Given the description of an element on the screen output the (x, y) to click on. 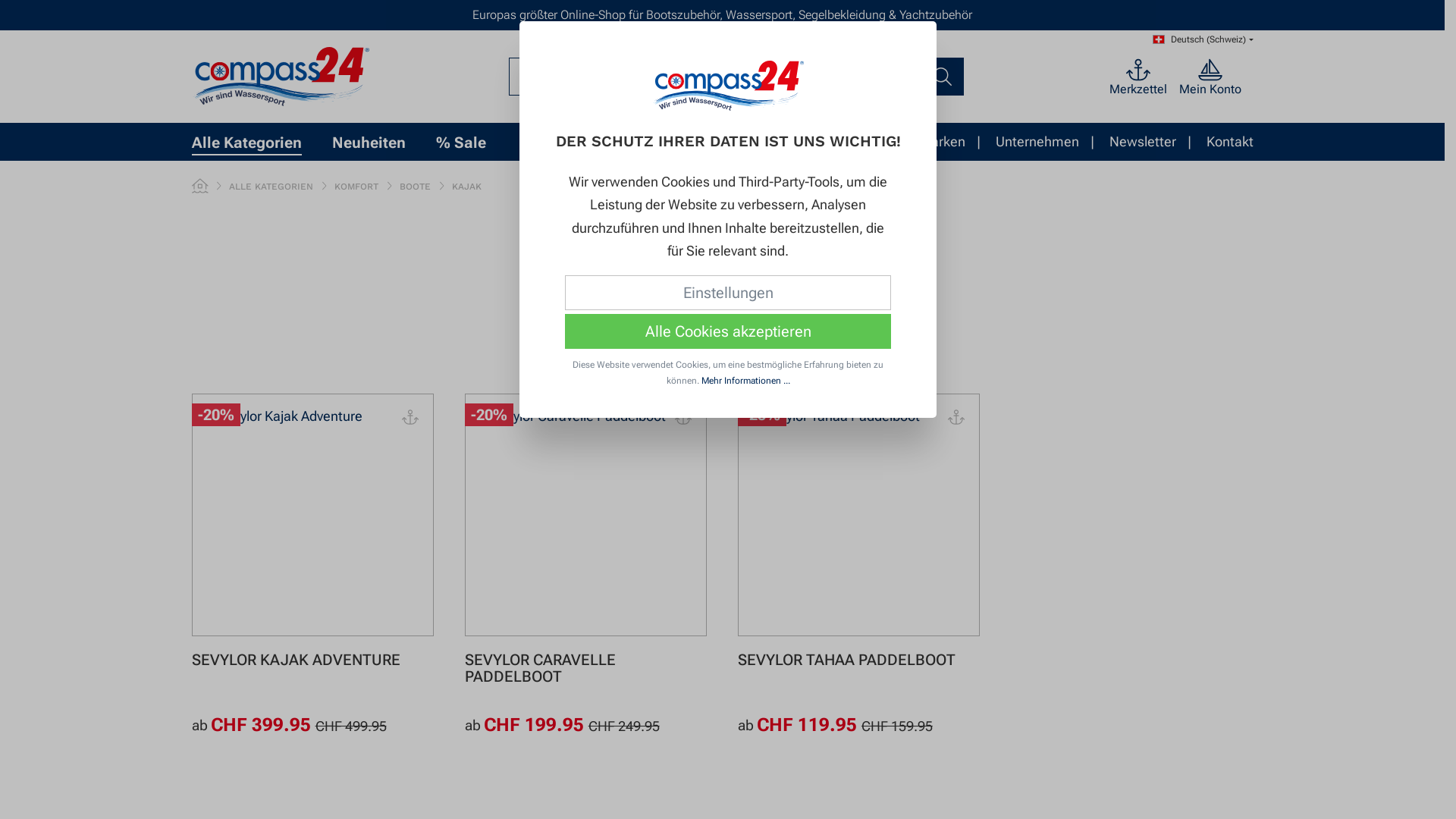
Merkzettel ein-/ausschalten Element type: hover (956, 419)
Mein Konto Element type: text (1151, 76)
SEVYLOR CARAVELLE PADDELBOOT Element type: text (585, 667)
% Sale Element type: text (475, 141)
SEVYLOR KAJAK ADVENTURE Element type: text (312, 659)
Alle Kategorien Element type: text (261, 141)
Merkzettel ein-/ausschalten Element type: hover (683, 419)
Merkzettel Element type: text (1079, 76)
SEVYLOR TAHAA PADDELBOOT Element type: text (858, 659)
Unternehmen Element type: text (1051, 141)
KOMFORT Element type: text (355, 186)
BOOTE Element type: text (413, 186)
Deutsch (Schweiz) Element type: text (1202, 40)
Sevylor Caravelle Paddelboot Element type: hover (585, 514)
Ratgeber Element type: text (875, 141)
Sevylor Kajak Adventure Element type: hover (312, 514)
KAJAK Element type: text (466, 186)
Kontakt Element type: text (1228, 141)
Home Element type: hover (199, 187)
Zur Startseite gehen Element type: hover (280, 76)
Merkzettel ein-/ausschalten Element type: hover (409, 419)
Mehr Informationen ... Element type: text (744, 380)
Zur Startseite gehen Element type: hover (727, 85)
Alle Cookies akzeptieren Element type: text (727, 330)
Newsletter Element type: text (1156, 141)
Sevylor Tahaa Paddelboot Element type: hover (858, 514)
Einstellungen Element type: text (727, 292)
Marken Element type: text (957, 141)
Neuheiten Element type: text (384, 141)
ALLE KATEGORIEN Element type: text (271, 186)
